Given the description of an element on the screen output the (x, y) to click on. 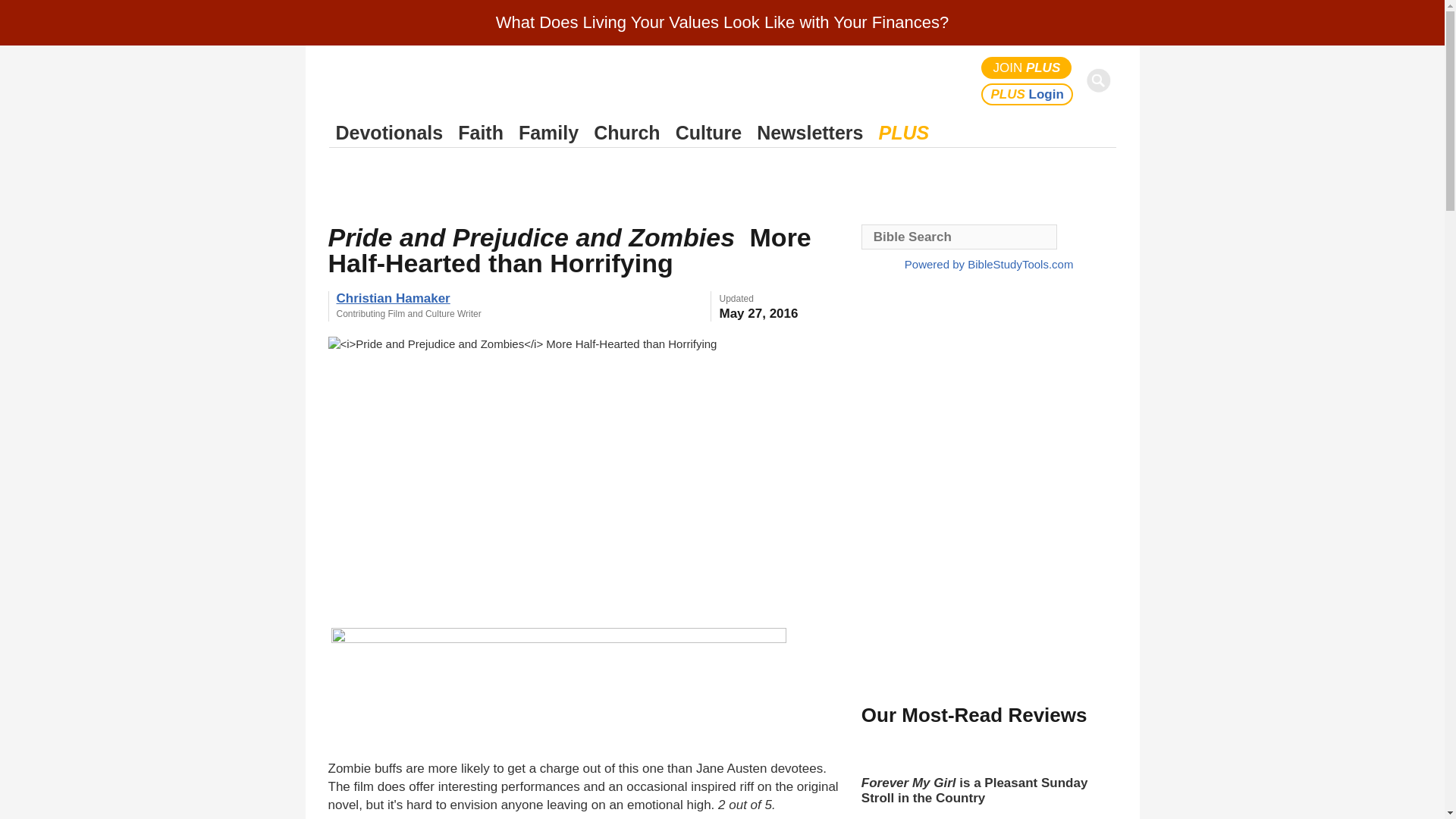
Join Plus (1026, 67)
JOIN PLUS (1026, 67)
Search (1101, 80)
Devotionals (389, 132)
Plus Login (1026, 94)
PLUS Login (1026, 94)
